Given the description of an element on the screen output the (x, y) to click on. 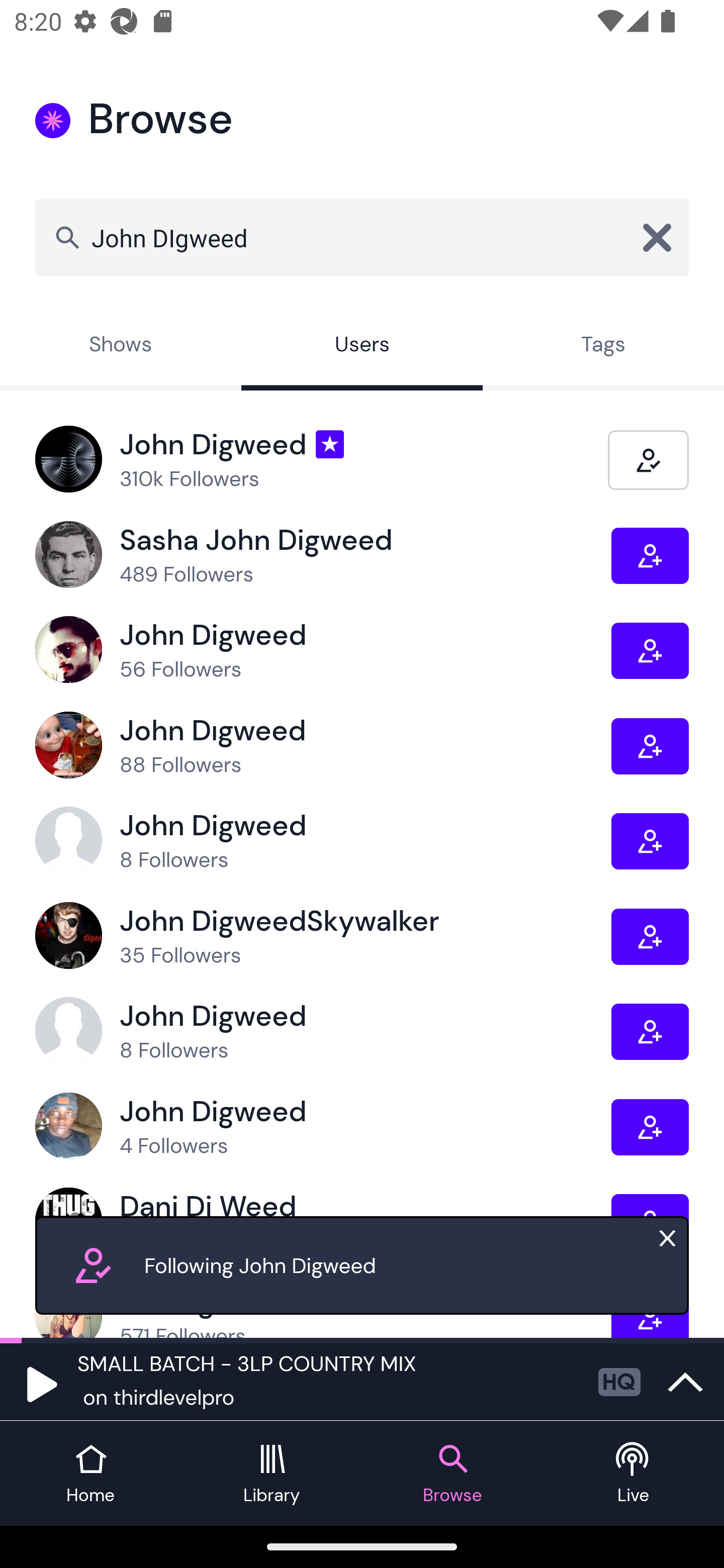
John DIgweed (361, 237)
Shows (120, 346)
Users (361, 346)
Tags (603, 346)
Following (648, 459)
Follow (649, 555)
Follow (649, 650)
Follow (649, 746)
John Digweed, 8 Followers John Digweed 8 Followers (323, 839)
Follow (649, 840)
Follow (649, 935)
John Digweed, 8 Followers John Digweed 8 Followers (323, 1031)
Follow (649, 1031)
John Digweed, 4 Followers John Digweed 4 Followers (323, 1126)
Follow (649, 1127)
Home tab Home (90, 1473)
Library tab Library (271, 1473)
Browse tab Browse (452, 1473)
Live tab Live (633, 1473)
